Given the description of an element on the screen output the (x, y) to click on. 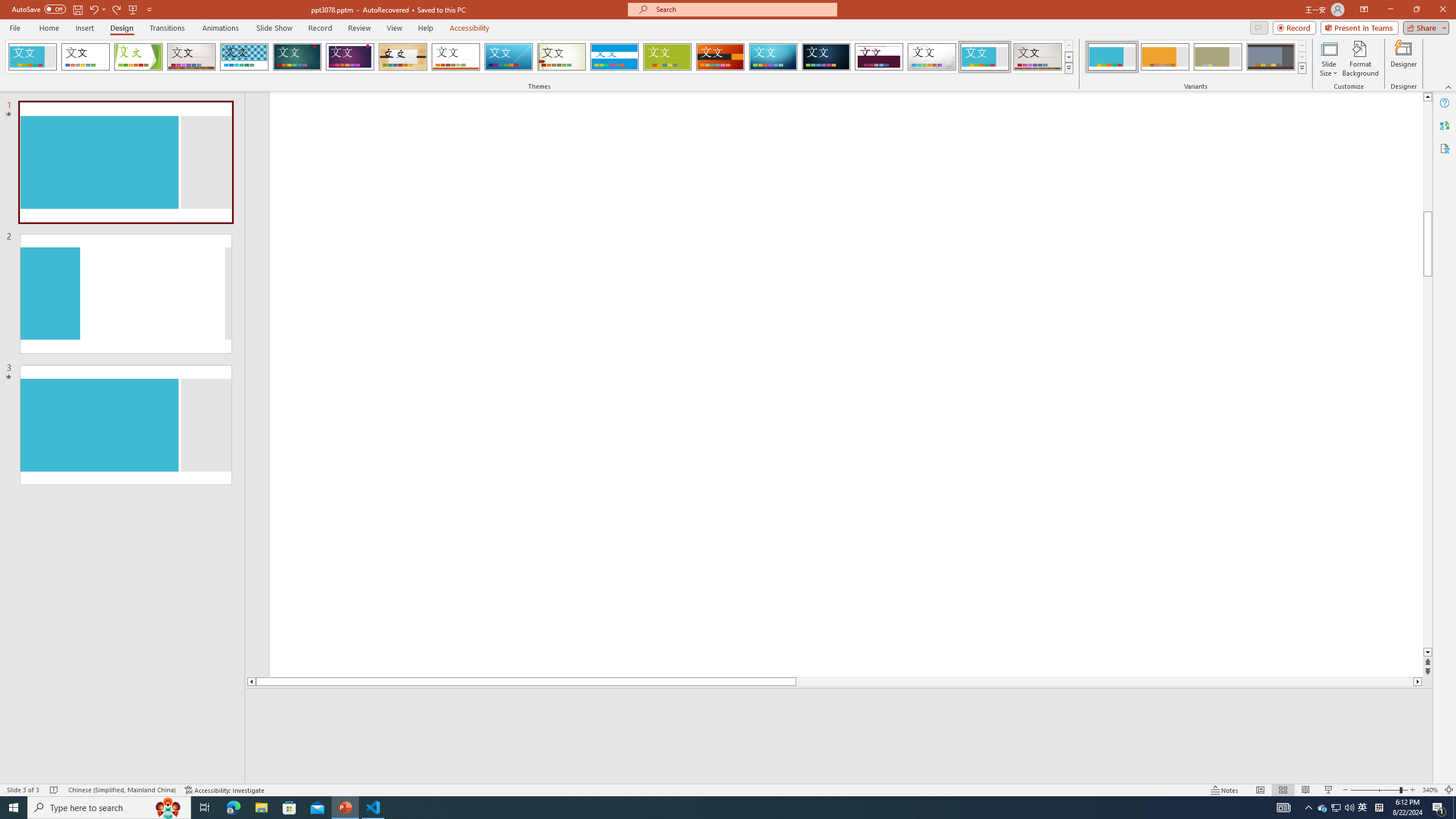
Frame Variant 3 (1217, 56)
Integral (244, 56)
TextBox 61 (1149, 231)
Banded (614, 56)
